Given the description of an element on the screen output the (x, y) to click on. 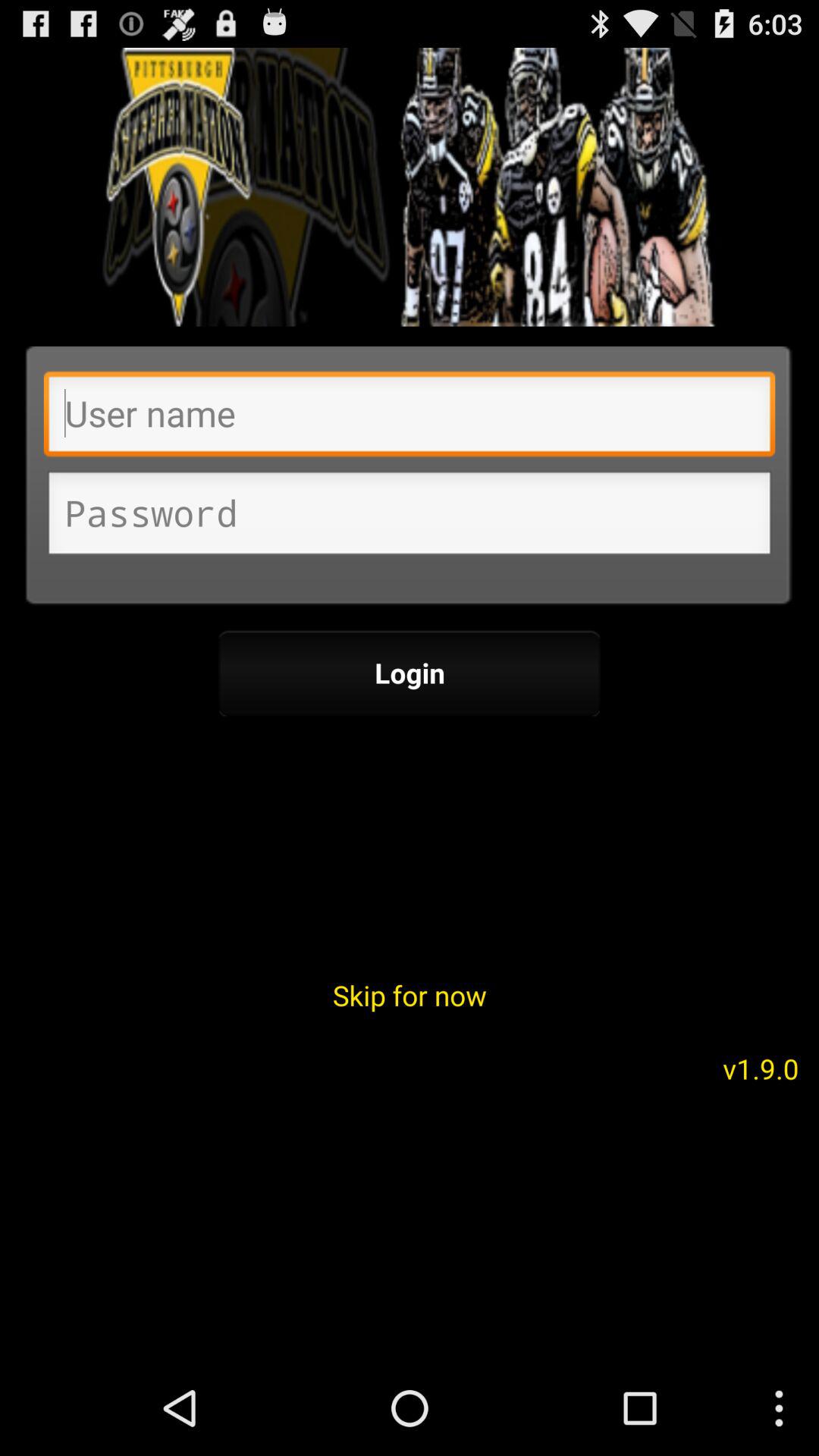
choose item at the bottom (409, 995)
